Given the description of an element on the screen output the (x, y) to click on. 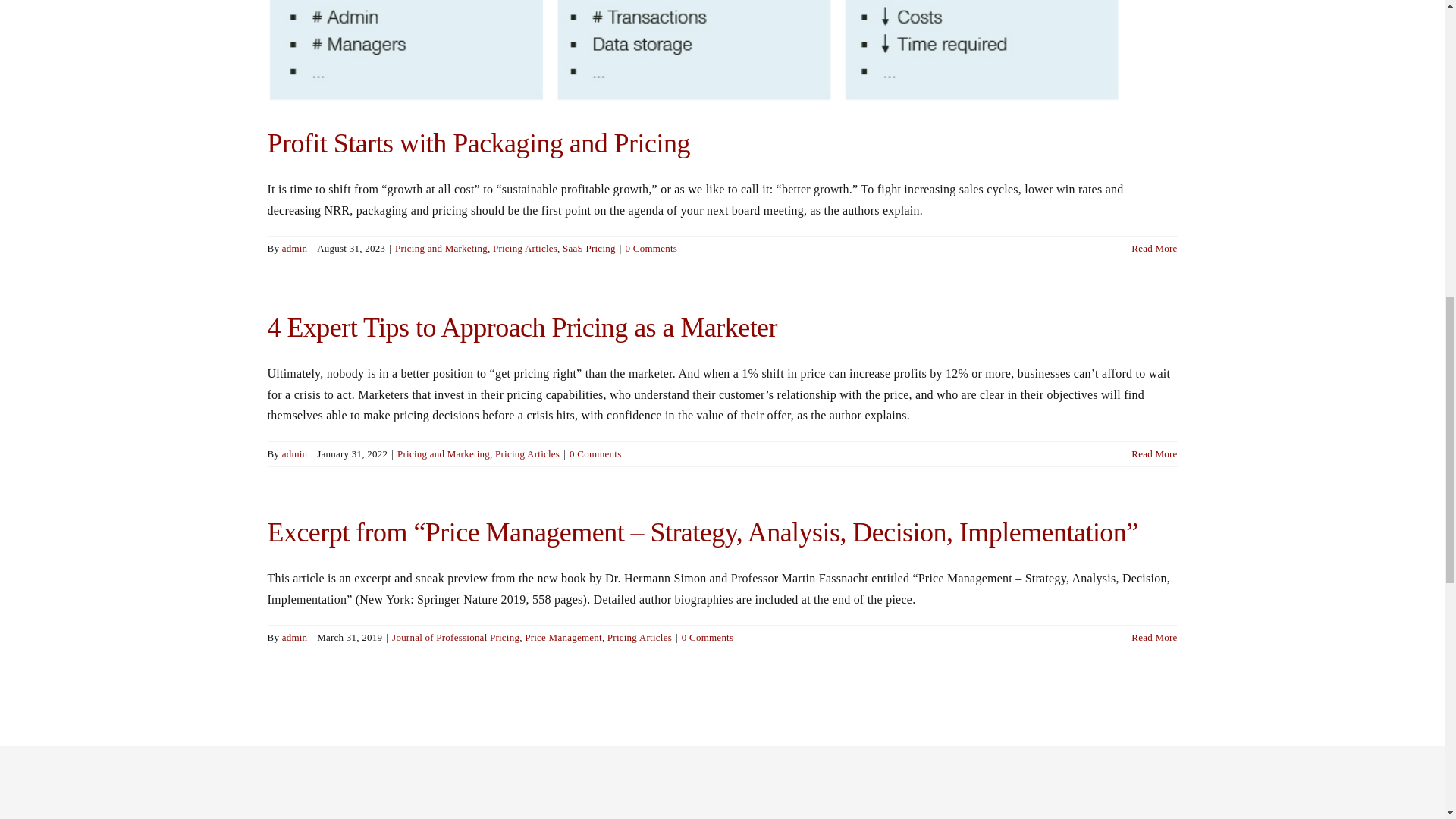
Posts by admin (294, 636)
Posts by admin (294, 247)
Posts by admin (294, 453)
